Given the description of an element on the screen output the (x, y) to click on. 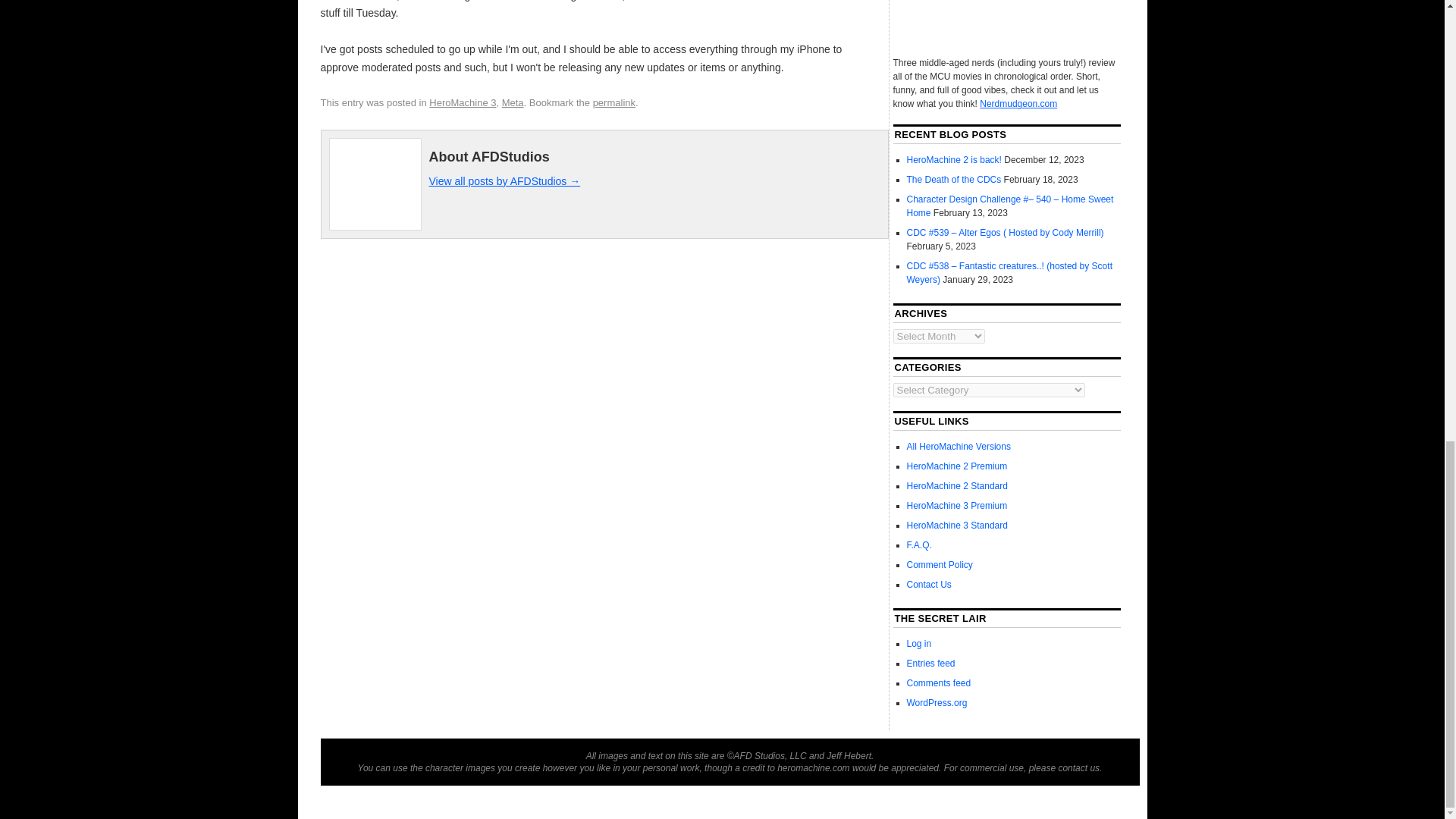
The Death of the CDCs (954, 179)
Comment Policy (939, 564)
HeroMachine 2 Premium (957, 466)
Nerdmudgeon.com (1018, 103)
HeroMachine 3 (462, 102)
HeroMachine 3 Premium (957, 505)
Meta (513, 102)
All HeroMachine Versions (958, 446)
permalink (613, 102)
F.A.Q. (919, 544)
HeroMachine 2 Standard (957, 485)
HeroMachine 2 is back! (954, 159)
HeroMachine 3 Standard (957, 525)
Permalink to HM3: Working on saving (613, 102)
